Given the description of an element on the screen output the (x, y) to click on. 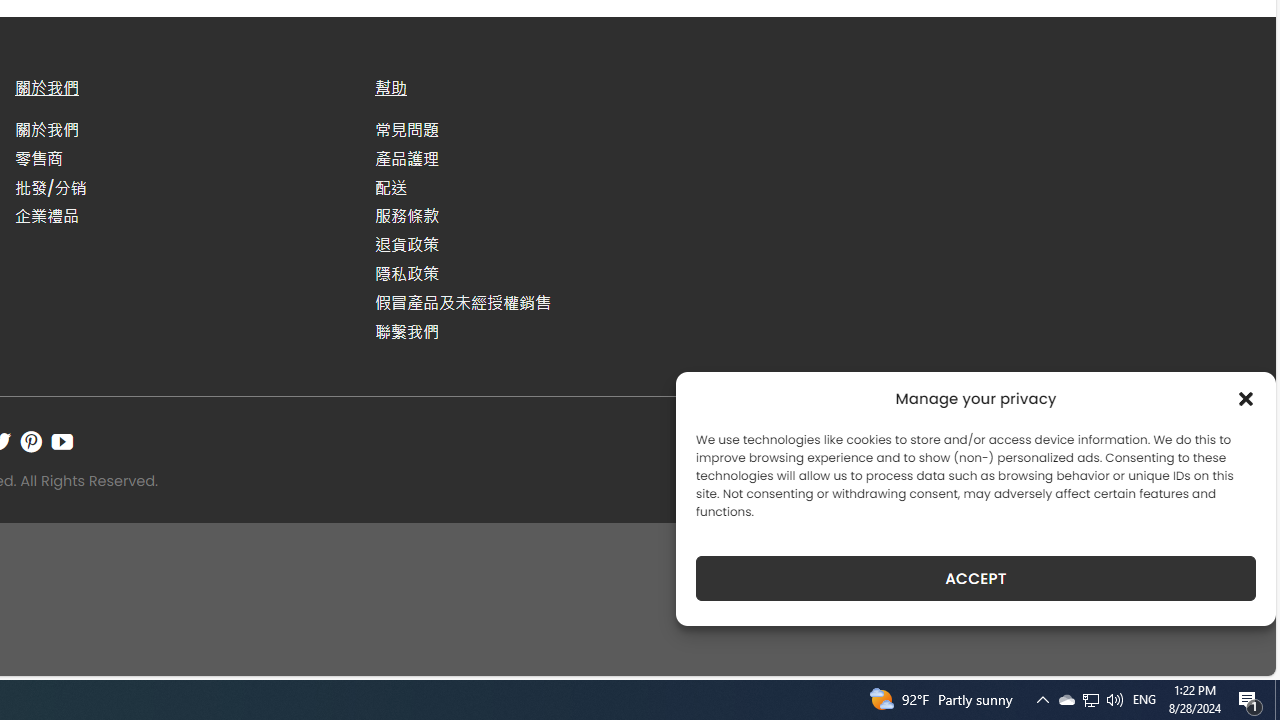
Class: cmplz-close (1245, 398)
ACCEPT (975, 578)
